Given the description of an element on the screen output the (x, y) to click on. 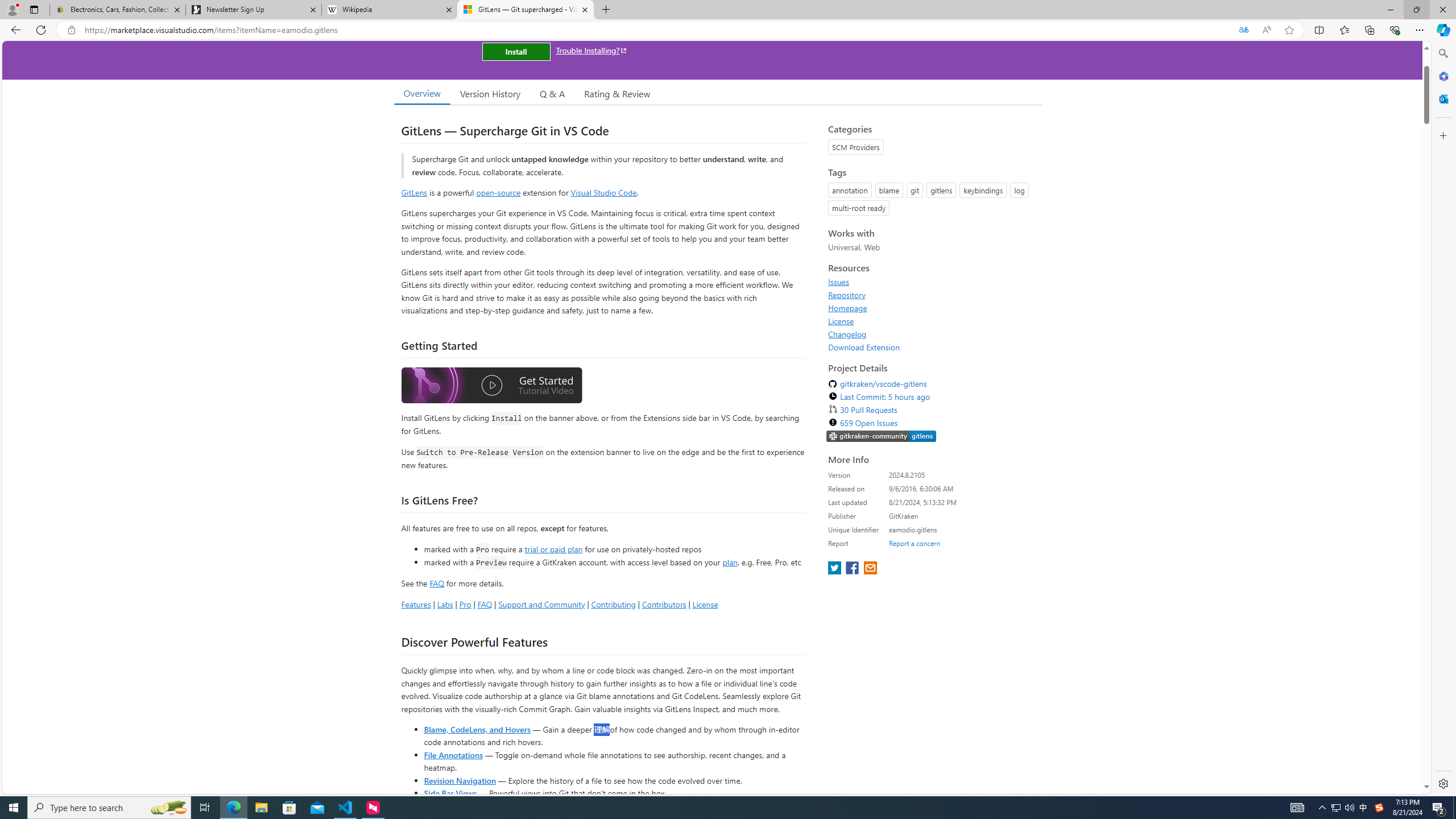
Q & A (552, 92)
GitLens (414, 192)
Visual Studio Code (603, 192)
